Given the description of an element on the screen output the (x, y) to click on. 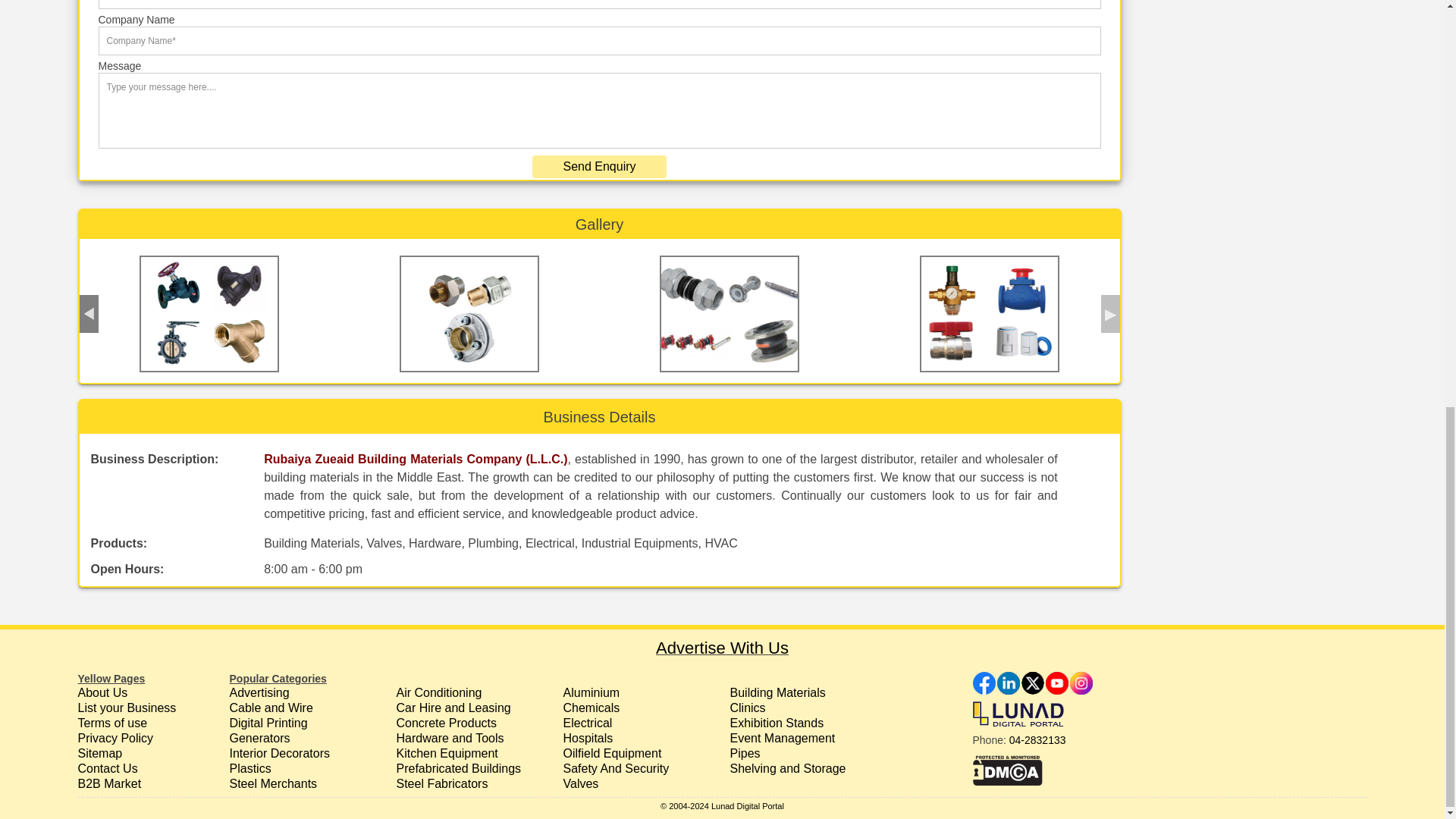
Car Hire and Leasing (453, 707)
Advertising Business With Us (722, 647)
Clinics (747, 707)
Free Business Listing (126, 707)
Cable and Wire Manufacturers (270, 707)
Air Conditioning Engineers Installation and Maintenance (438, 692)
Chemicals And Chemical Products (591, 707)
Concrete Products (446, 722)
Electric Equipment (586, 722)
Aluminium and Aluminium Products (591, 692)
Building Materials (777, 692)
Advertising Agencies (258, 692)
Digital Printing (267, 722)
